Given the description of an element on the screen output the (x, y) to click on. 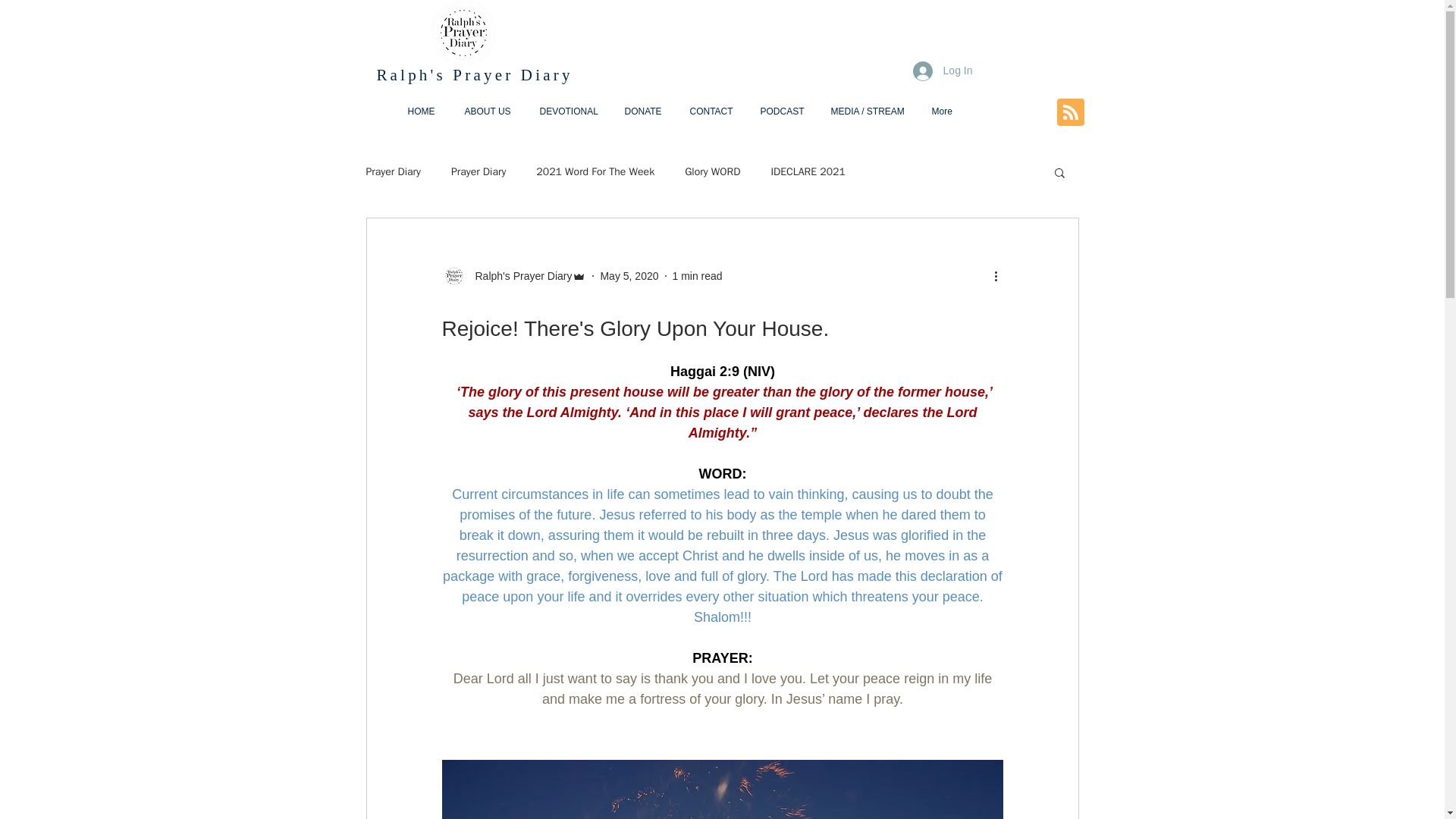
DONATE (645, 111)
DEVOTIONAL (569, 111)
Glory WORD (711, 172)
Ralph's Prayer Diary (473, 75)
Prayer Diary (478, 172)
May 5, 2020 (628, 275)
Facebook Like (1019, 111)
2021 Word For The Week (594, 172)
Ralph's Prayer Diary (518, 276)
CONTACT (713, 111)
Ralph's Prayer Diary (513, 275)
Log In (943, 70)
1 min read (696, 275)
IDECLARE 2021 (807, 172)
Prayer Diary (392, 172)
